Given the description of an element on the screen output the (x, y) to click on. 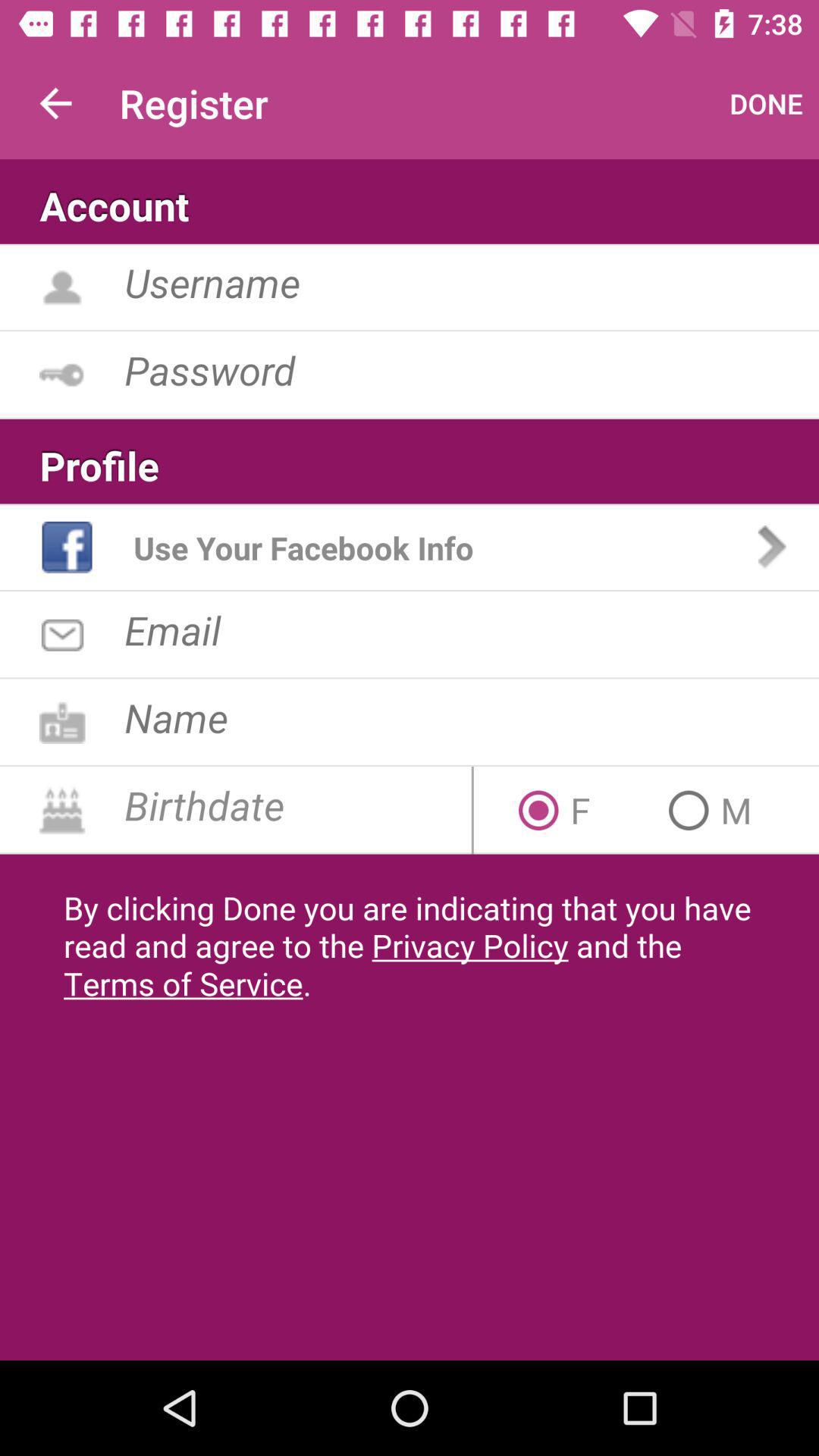
username (471, 281)
